Given the description of an element on the screen output the (x, y) to click on. 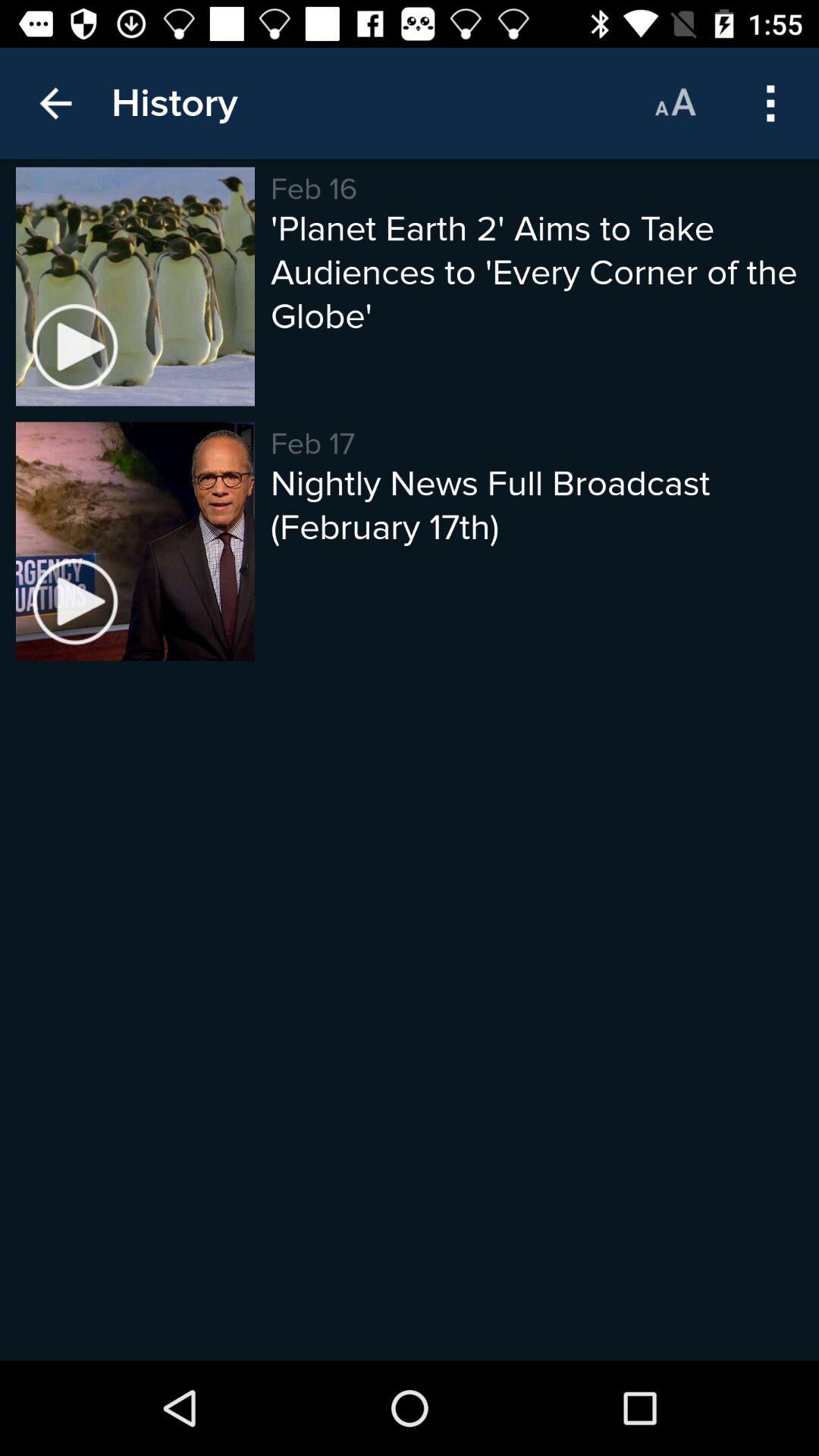
choose the history (174, 103)
